Given the description of an element on the screen output the (x, y) to click on. 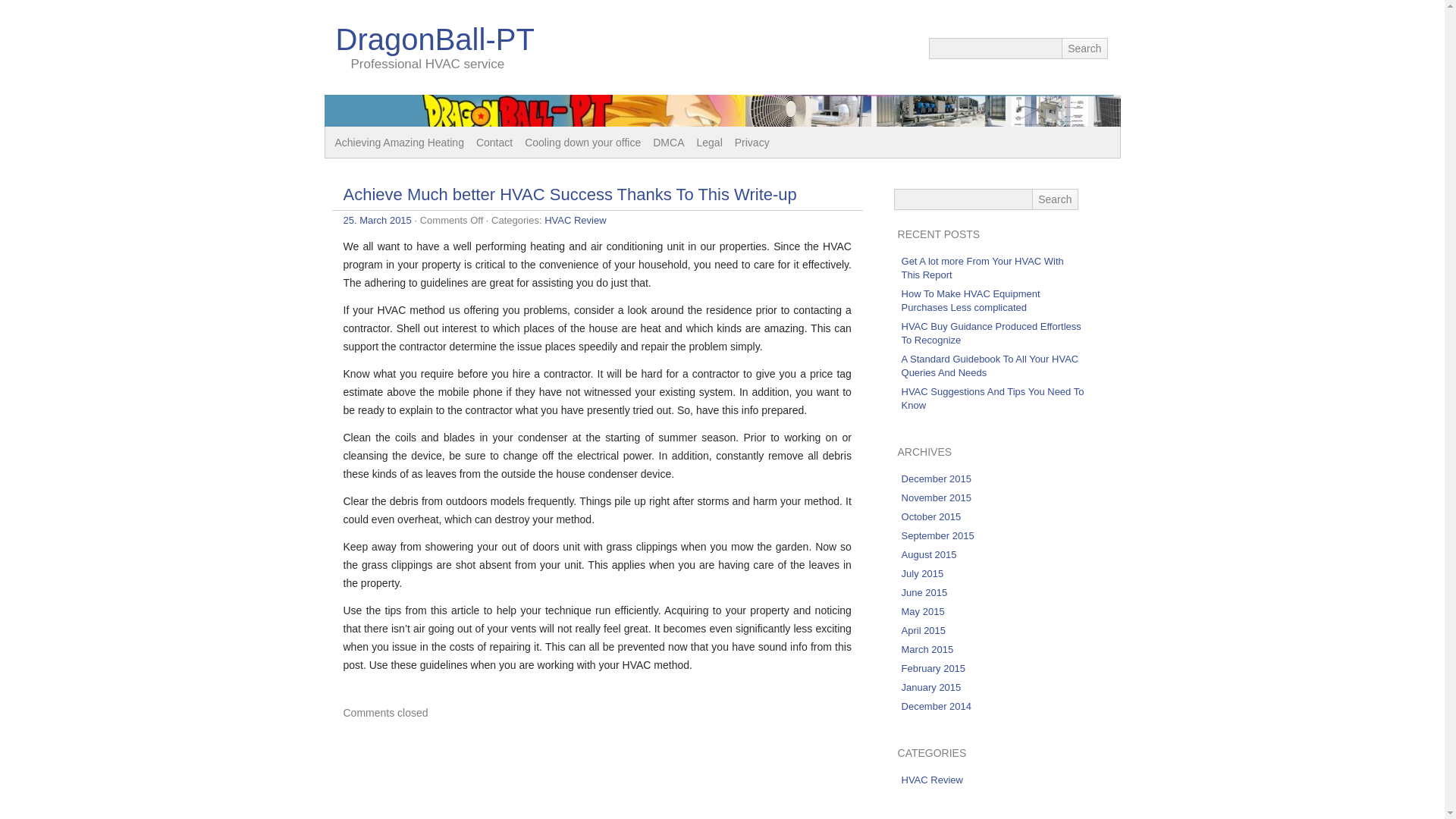
Achieve Much better HVAC Success Thanks To This Write-up (569, 194)
Search (1083, 47)
25. March 2015 (376, 220)
March 2015 (927, 649)
December 2015 (936, 478)
DMCA (668, 142)
DragonBall-PT (434, 39)
HVAC Suggestions And Tips You Need To Know (992, 398)
September 2015 (937, 535)
HVAC Buy Guidance Produced Effortless To Recognize (991, 333)
